Given the description of an element on the screen output the (x, y) to click on. 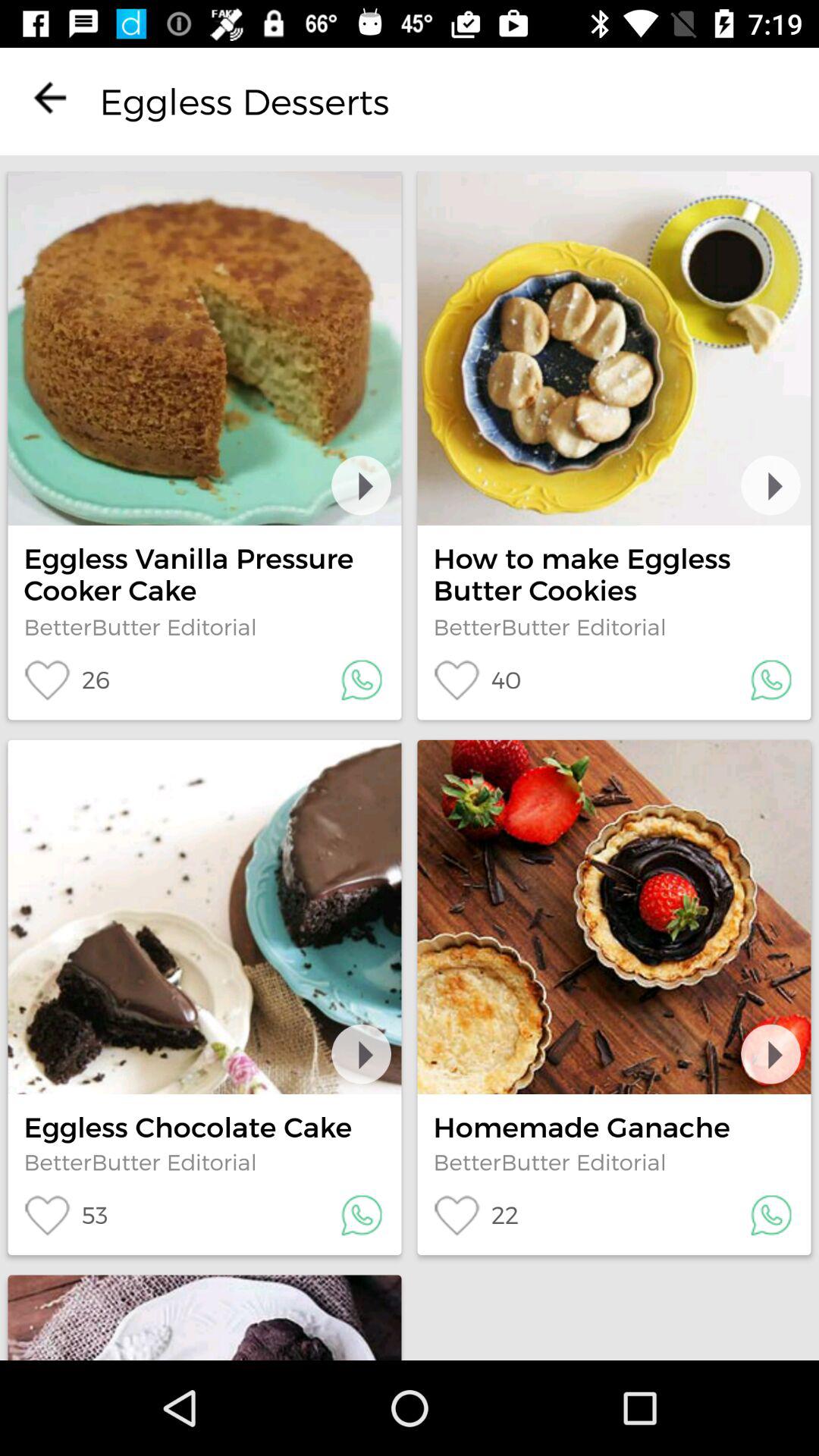
launch 26 (66, 680)
